Given the description of an element on the screen output the (x, y) to click on. 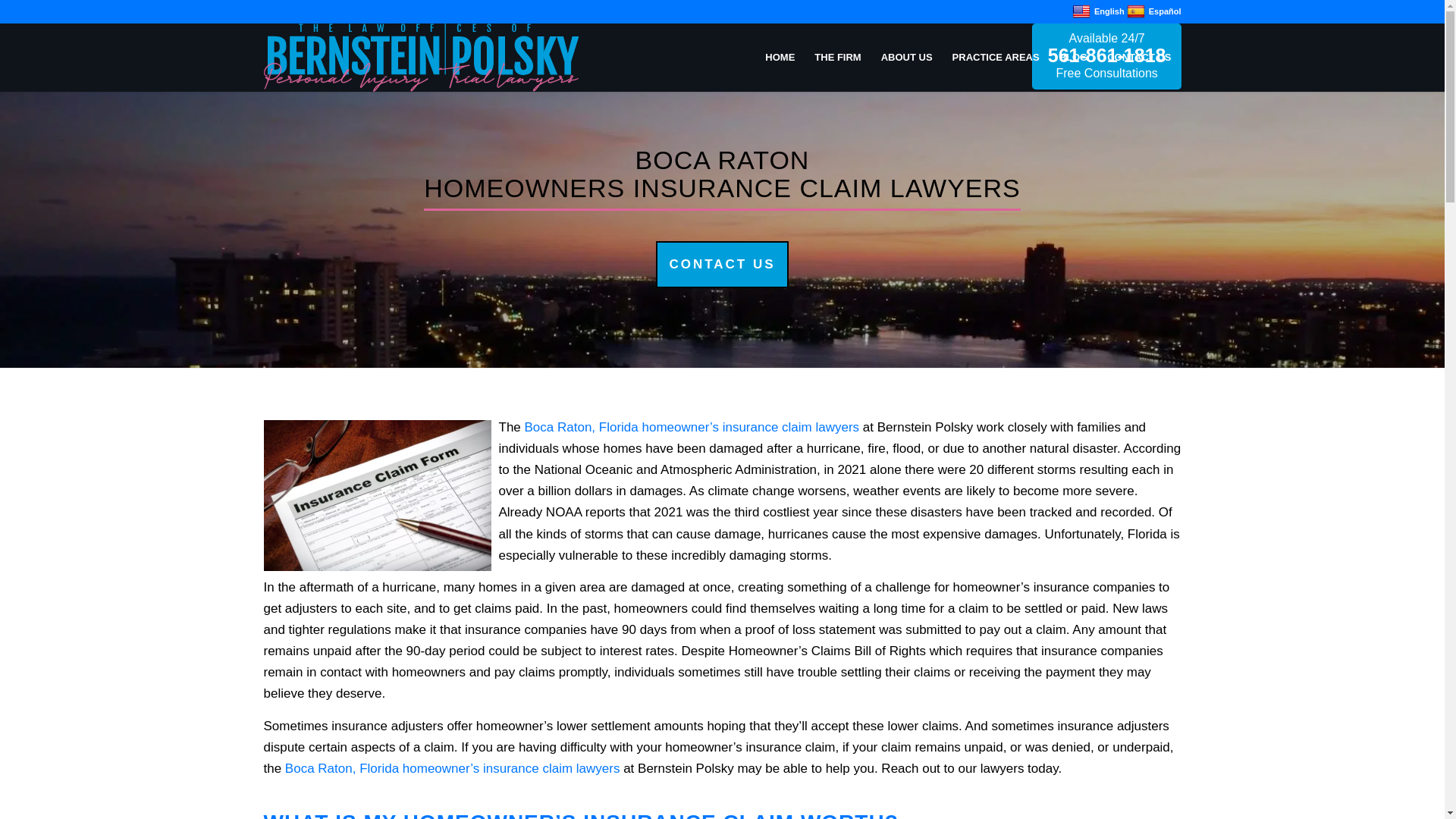
English (1097, 10)
PRACTICE AREAS (995, 57)
THE FIRM (837, 57)
English (1097, 10)
ABOUT US (906, 57)
CONTACT US (1138, 57)
CONTACT US (721, 264)
Spanish (1153, 10)
